Given the description of an element on the screen output the (x, y) to click on. 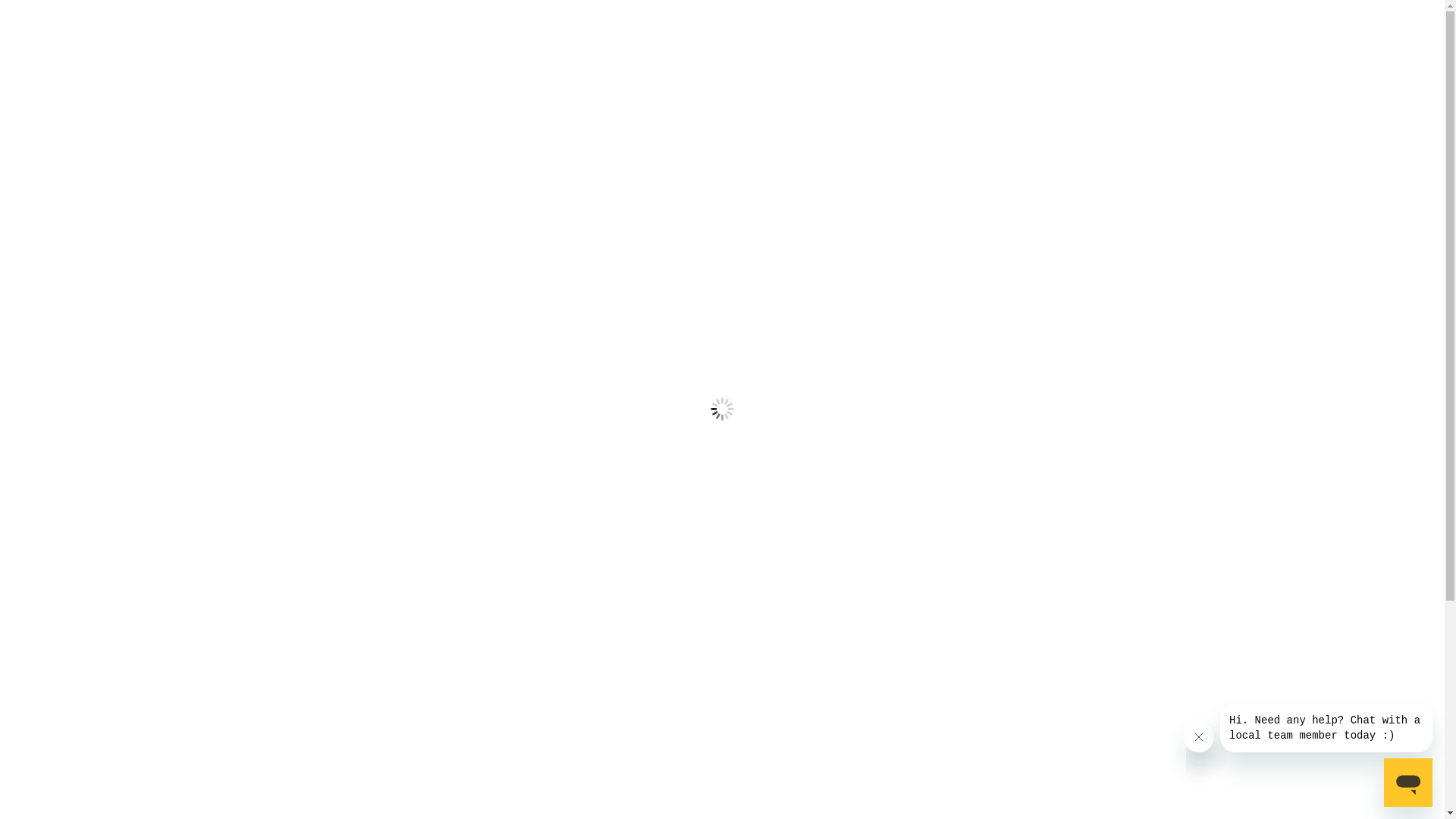
NEWS Element type: text (471, 104)
Fashion Cases Element type: text (803, 761)
Facebook Element type: text (1158, 600)
Message from company Element type: hover (1326, 727)
$0.00
0 Element type: text (1217, 41)
Home Element type: text (721, 209)
Screen Protectors Element type: text (813, 736)
FIND A STORE Element type: text (390, 104)
PRODUCTS Element type: text (221, 103)
Instagram Element type: text (1196, 600)
Protection Cases Element type: text (810, 786)
Services Element type: text (576, 736)
Twitter Element type: text (1120, 600)
Created by potrace 1.16, written by Peter Selinger 2001-2019 Element type: text (1119, 41)
YouTube Element type: text (1234, 600)
Reach Out To Us Element type: text (1103, 743)
Button to launch messaging window Element type: hover (1407, 782)
Close message Element type: hover (1198, 736)
REPAIRS Element type: text (302, 104)
Contact Us Element type: text (582, 761)
Returns Policy Element type: text (591, 786)
Continue shopping Element type: text (476, 439)
